Given the description of an element on the screen output the (x, y) to click on. 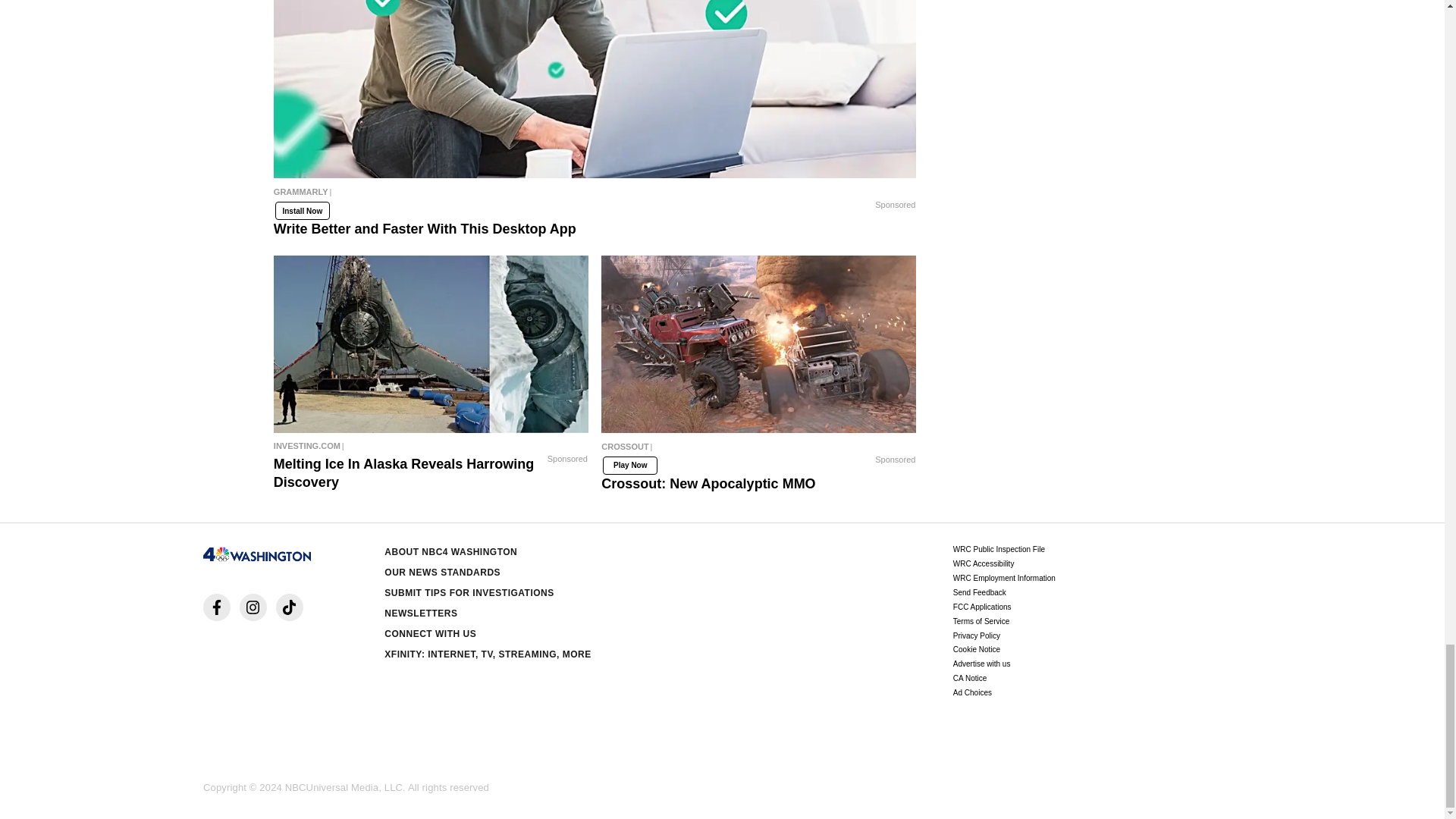
Crossout: New Apocalyptic MMO (758, 344)
Write Better and Faster With This Desktop App (595, 89)
Write Better and Faster With This Desktop App (595, 195)
Melting Ice In Alaska Reveals Harrowing Discovery (430, 344)
Melting Ice In Alaska Reveals Harrowing Discovery (430, 445)
Crossout: New Apocalyptic MMO (758, 450)
